Given the description of an element on the screen output the (x, y) to click on. 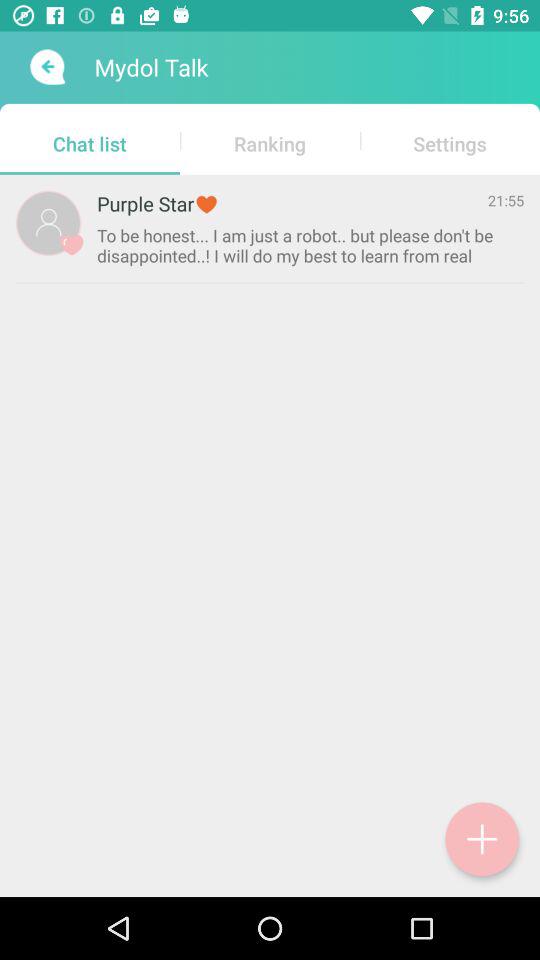
add a chat (482, 839)
